Given the description of an element on the screen output the (x, y) to click on. 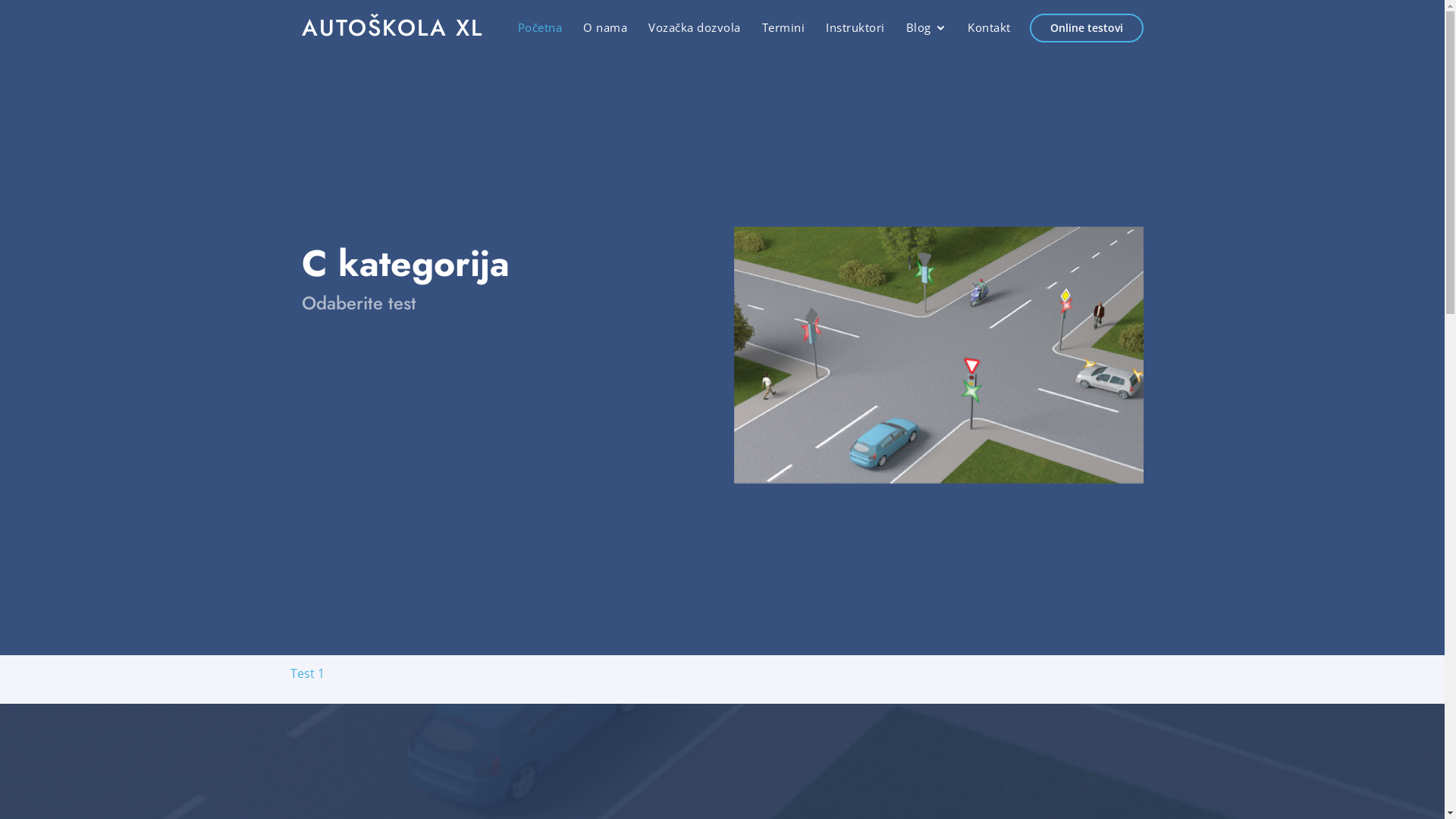
Test 1 Element type: text (306, 673)
Instruktori Element type: text (854, 27)
Kontakt Element type: text (988, 27)
O nama Element type: text (605, 27)
Online testovi Element type: text (1086, 27)
Blog Element type: text (925, 27)
Termini Element type: text (782, 27)
